Given the description of an element on the screen output the (x, y) to click on. 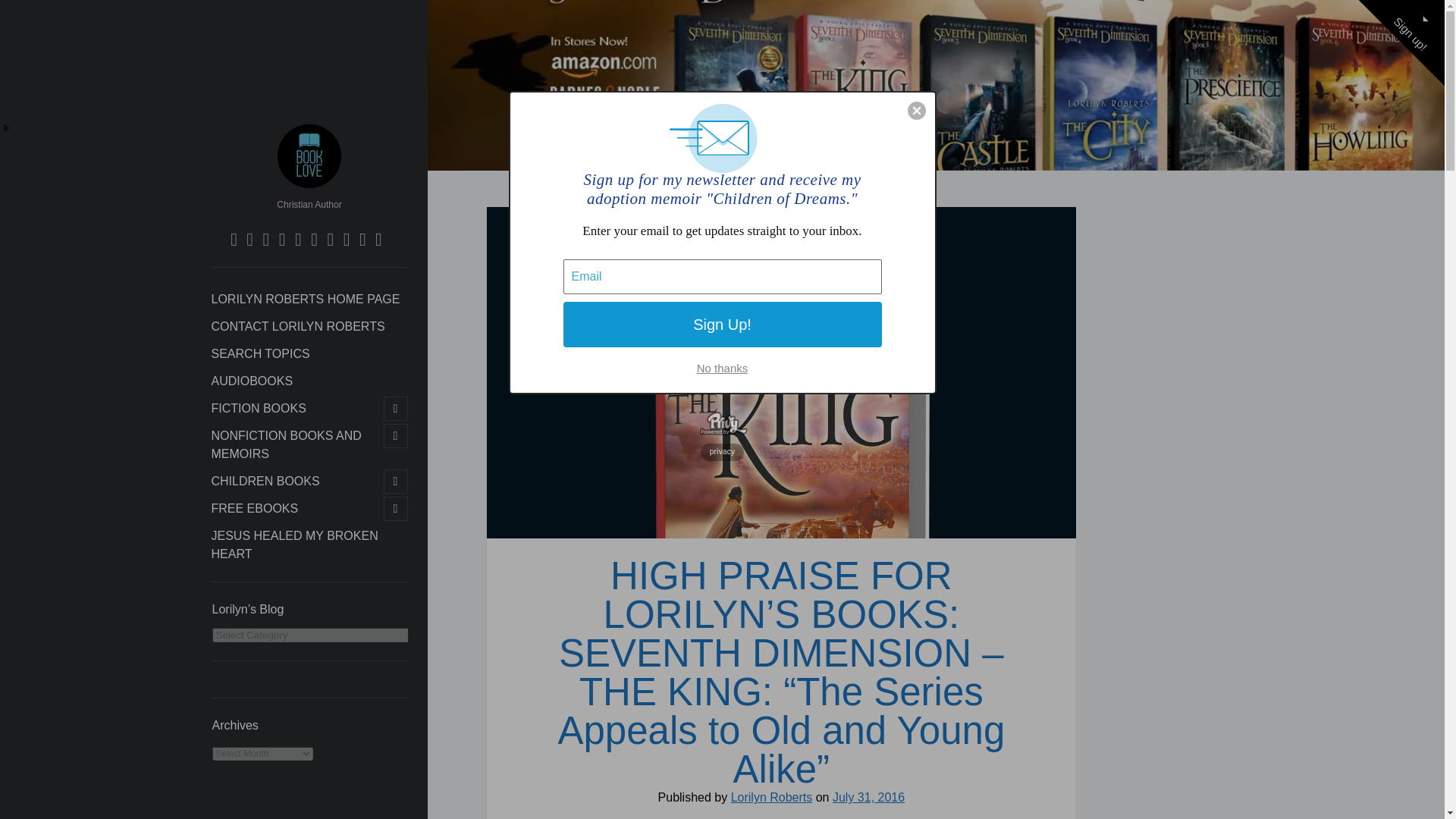
SEARCH TOPICS (259, 353)
LORILYN ROBERTS HOME PAGE (304, 299)
CHILDREN BOOKS (264, 481)
open child menu (395, 435)
AUDIOBOOKS (251, 381)
open child menu (395, 408)
Lorilyn Roberts (308, 187)
open child menu (395, 481)
NONFICTION BOOKS AND MEMOIRS (295, 444)
FREE EBOOKS (254, 508)
FICTION BOOKS (258, 408)
CONTACT LORILYN ROBERTS (297, 326)
